Given the description of an element on the screen output the (x, y) to click on. 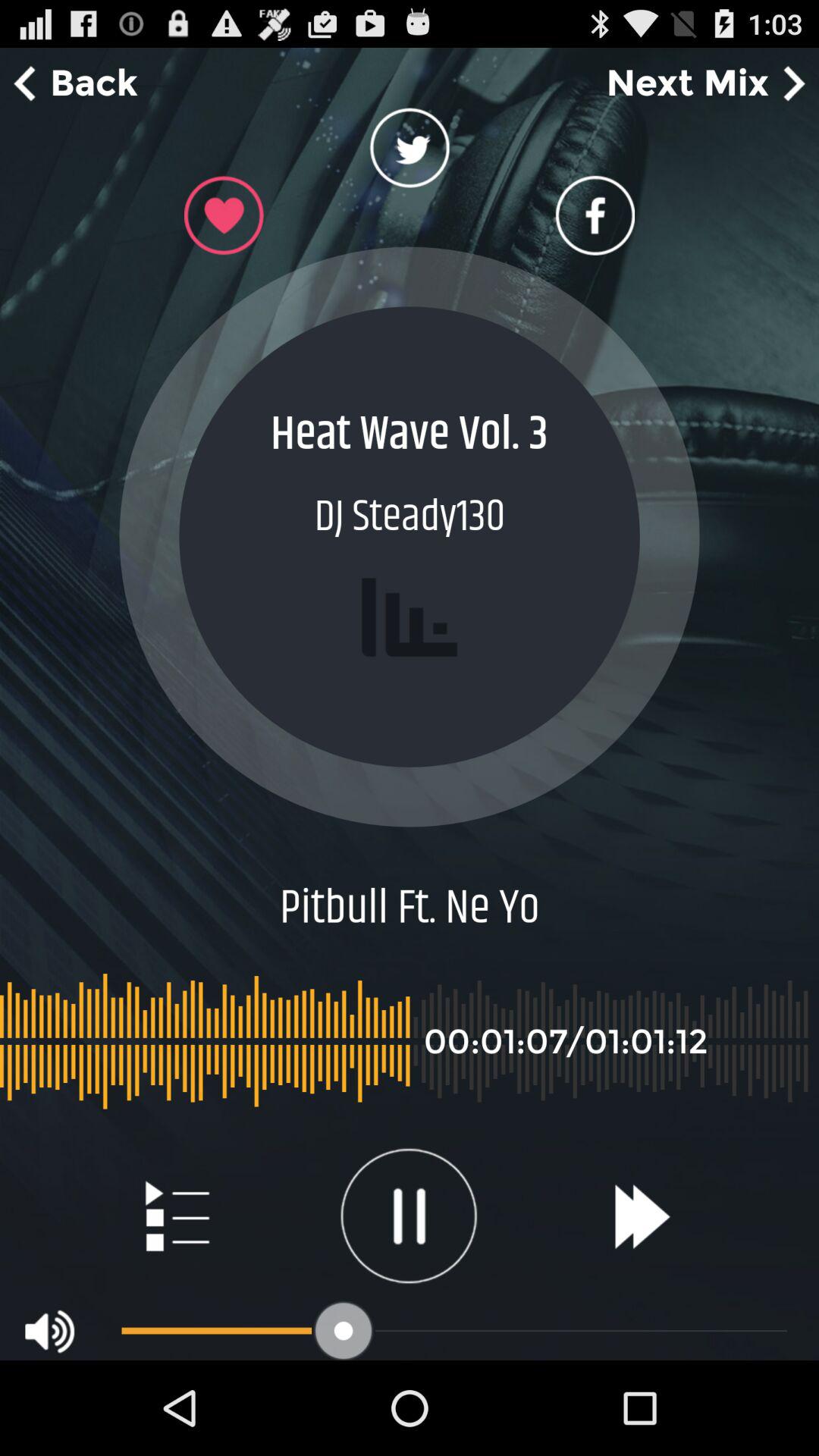
click icon at the bottom right corner (642, 1215)
